Given the description of an element on the screen output the (x, y) to click on. 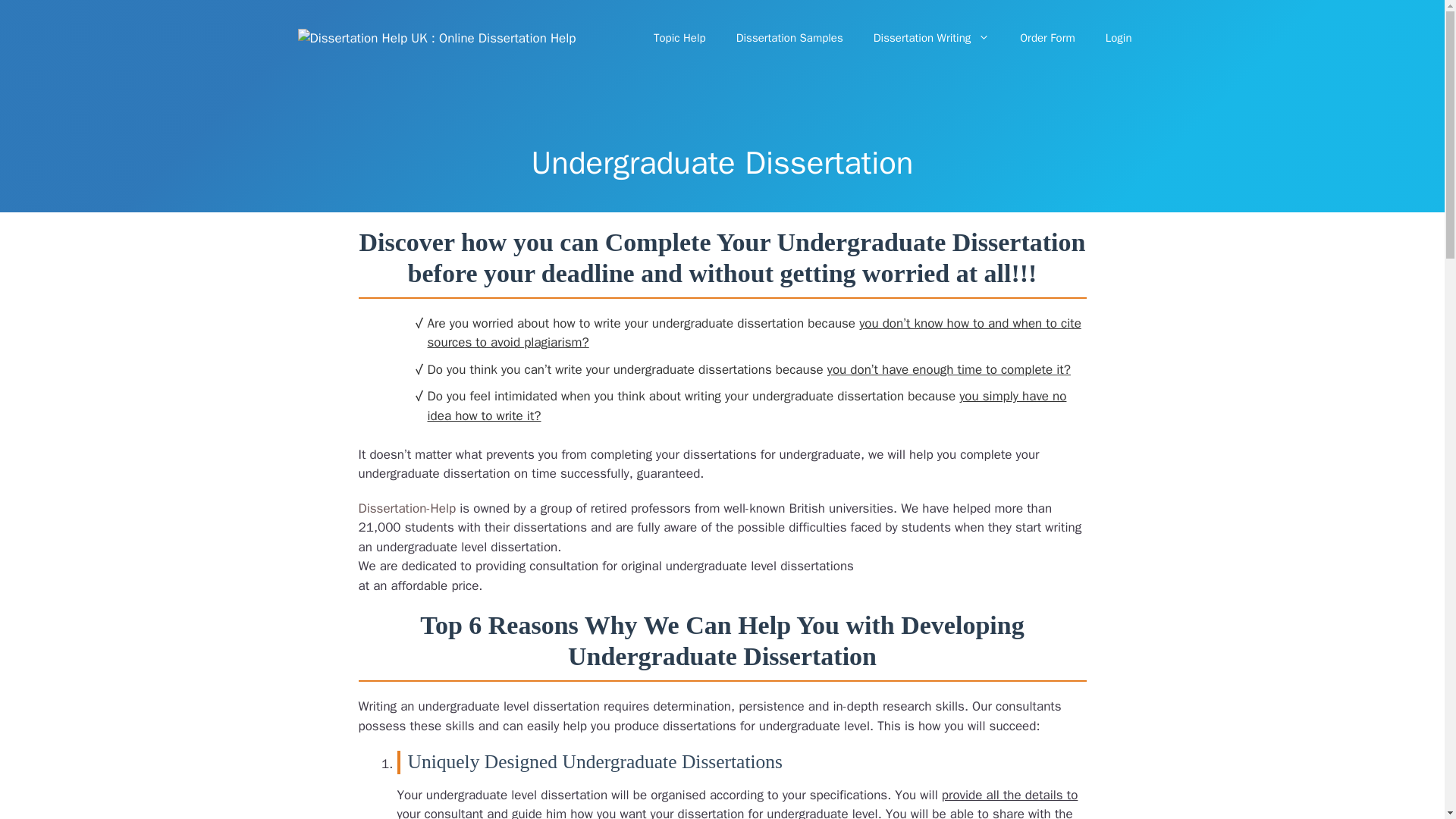
Dissertation Writing (932, 37)
Order Form (1047, 37)
Login (1118, 37)
Topic Help (679, 37)
Dissertation Samples (789, 37)
Dissertation-Help (406, 508)
